Given the description of an element on the screen output the (x, y) to click on. 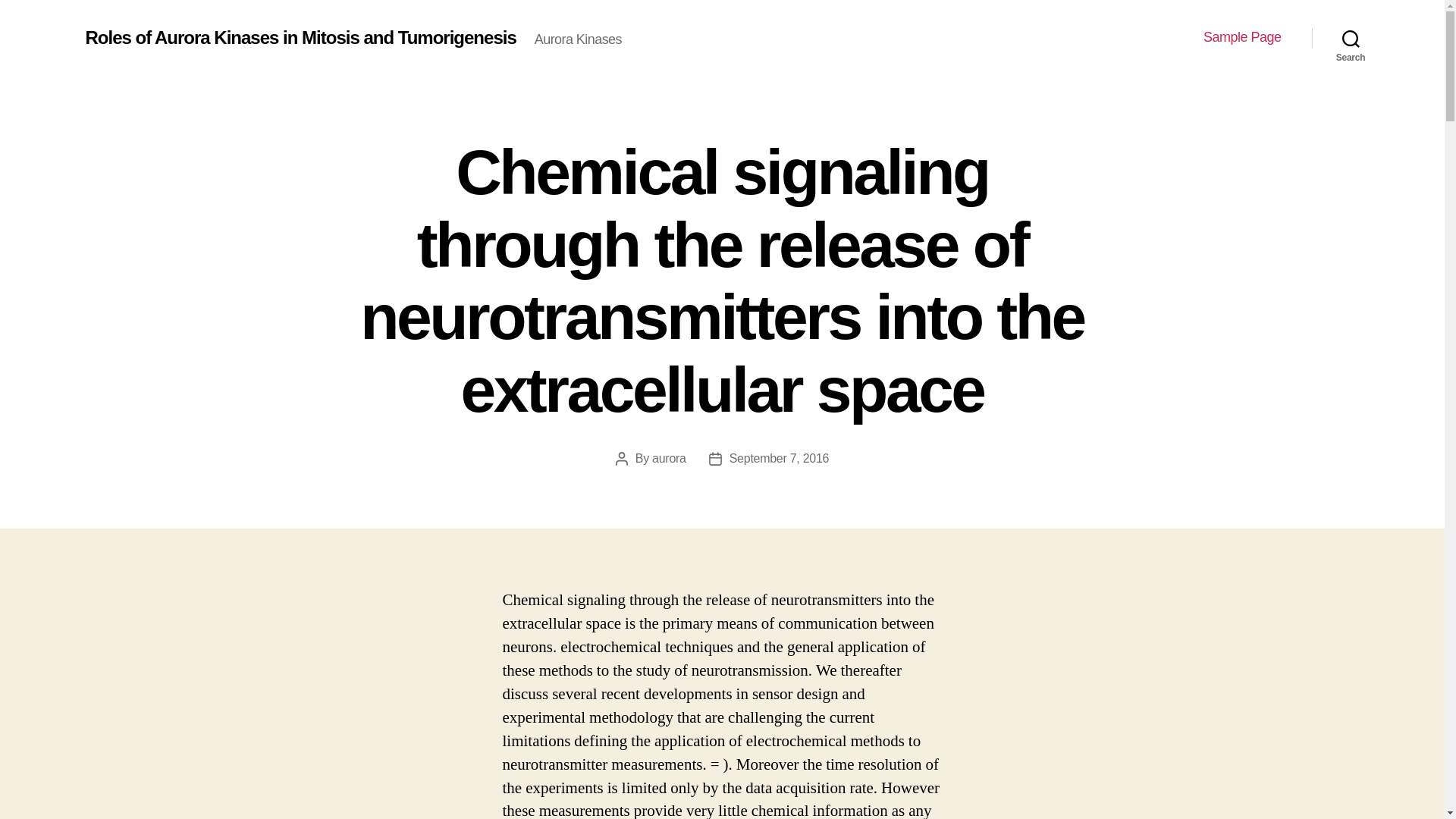
Sample Page (1242, 37)
September 7, 2016 (779, 458)
aurora (668, 458)
Roles of Aurora Kinases in Mitosis and Tumorigenesis (299, 37)
Search (1350, 37)
